Given the description of an element on the screen output the (x, y) to click on. 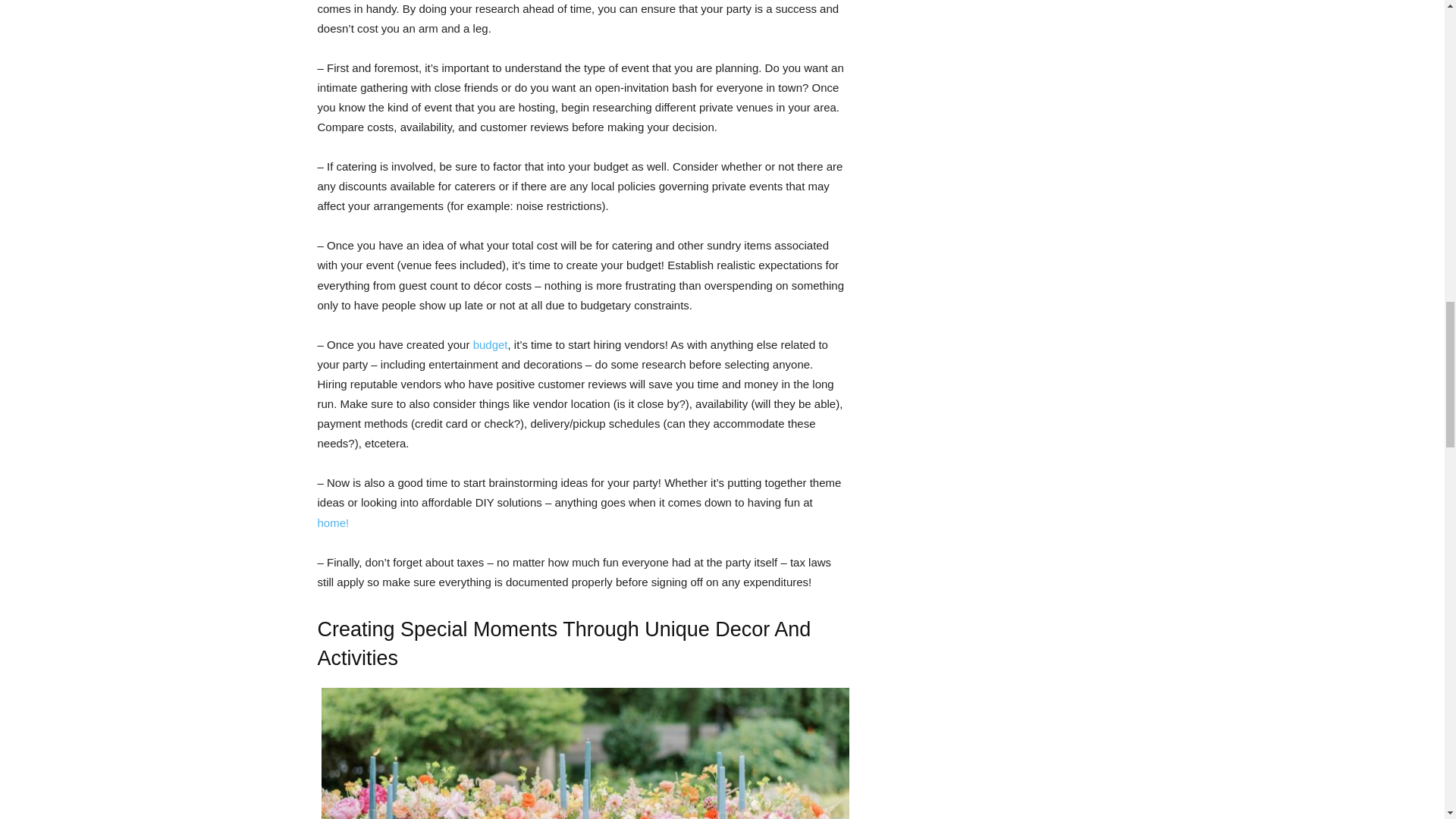
home! (333, 521)
budget (490, 344)
